Given the description of an element on the screen output the (x, y) to click on. 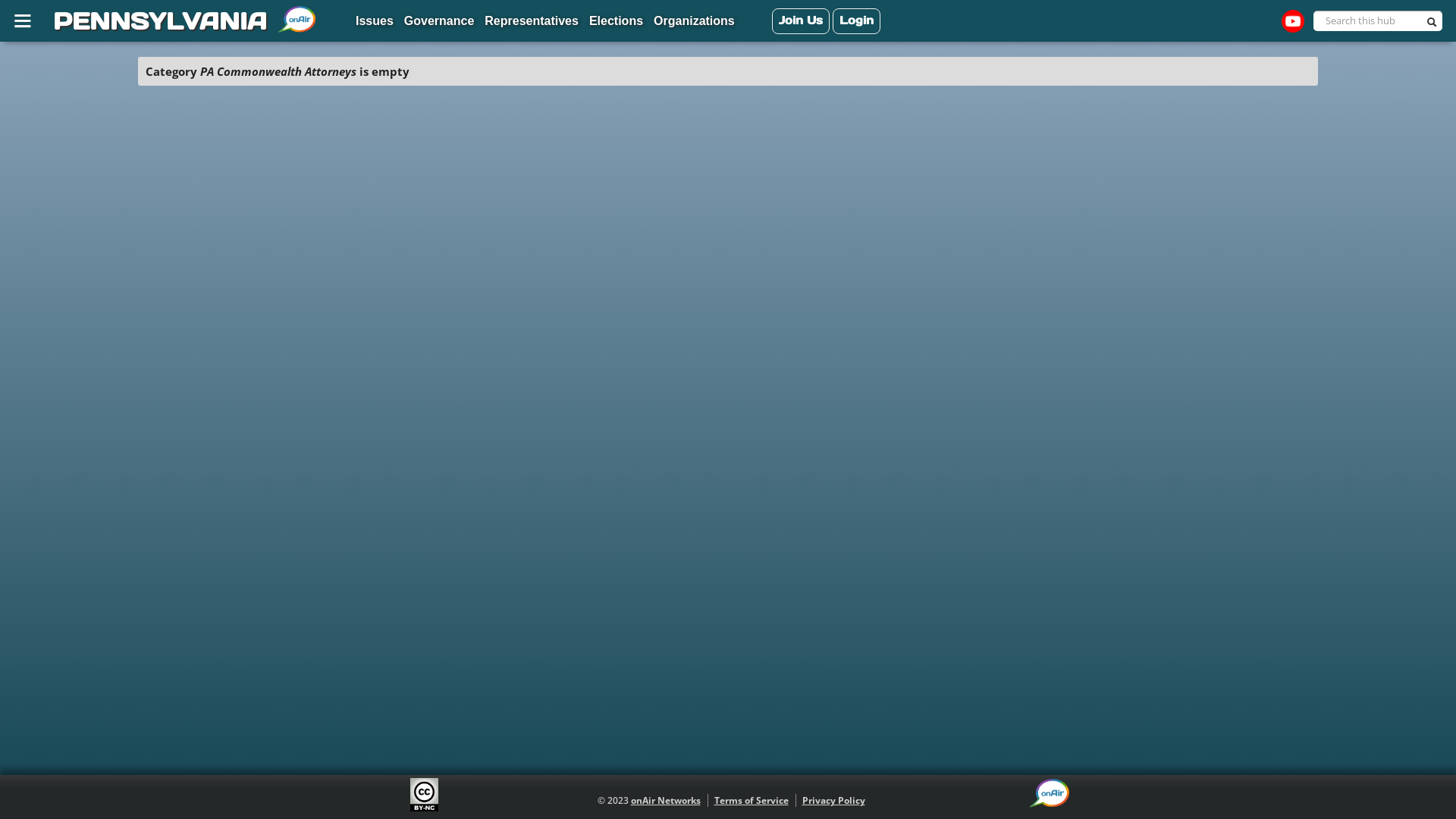
Terms of Service Element type: text (751, 799)
Governance Element type: text (438, 21)
Representatives Element type: text (531, 21)
Search Element type: text (1433, 23)
Privacy Policy Element type: text (833, 799)
Organizations Element type: text (694, 21)
onAIR Icon [external resource] Element type: hover (1050, 793)
Site Map Element type: hover (24, 20)
Join Us Element type: text (800, 21)
onAir Networks Element type: text (665, 799)
Elections Element type: text (615, 21)
Issues Element type: text (374, 21)
PENNSYLVANIA Element type: text (156, 20)
Login Element type: text (856, 21)
